Given the description of an element on the screen output the (x, y) to click on. 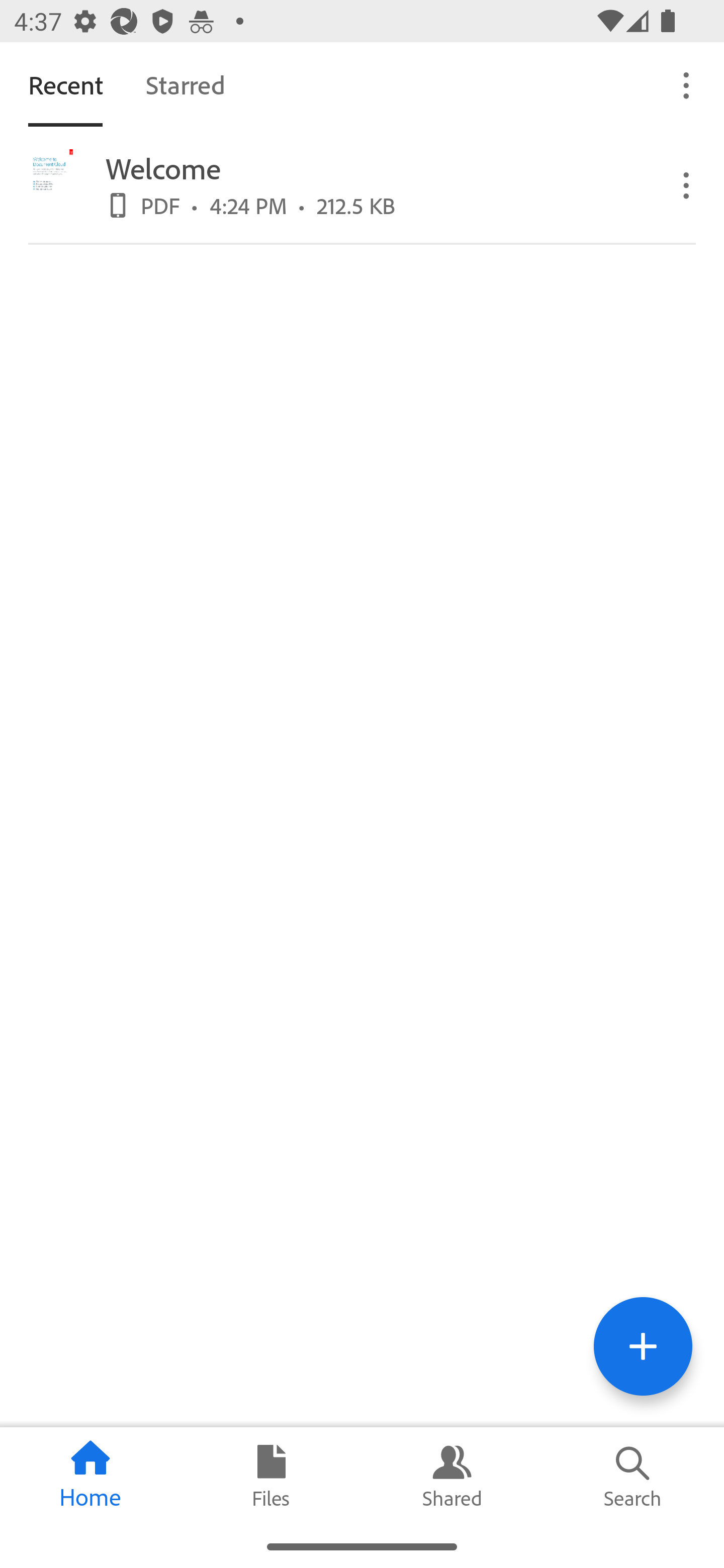
Recent (65, 84)
Starred (185, 84)
Overflow (687, 84)
Overflow (687, 184)
Tools (642, 1345)
Home (90, 1475)
Files (271, 1475)
Shared (452, 1475)
Search (633, 1475)
